Given the description of an element on the screen output the (x, y) to click on. 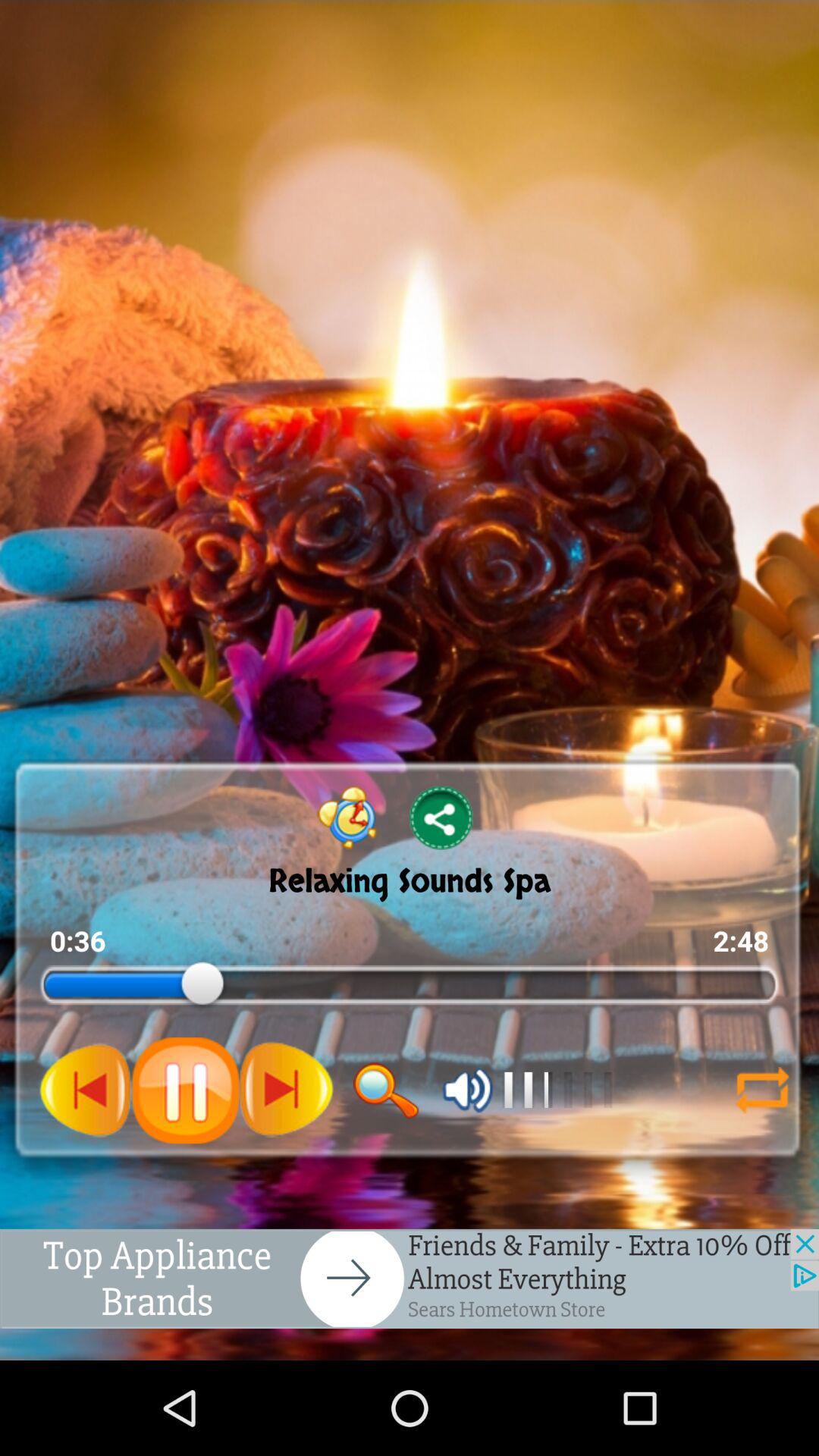
click to pause (185, 1090)
